Given the description of an element on the screen output the (x, y) to click on. 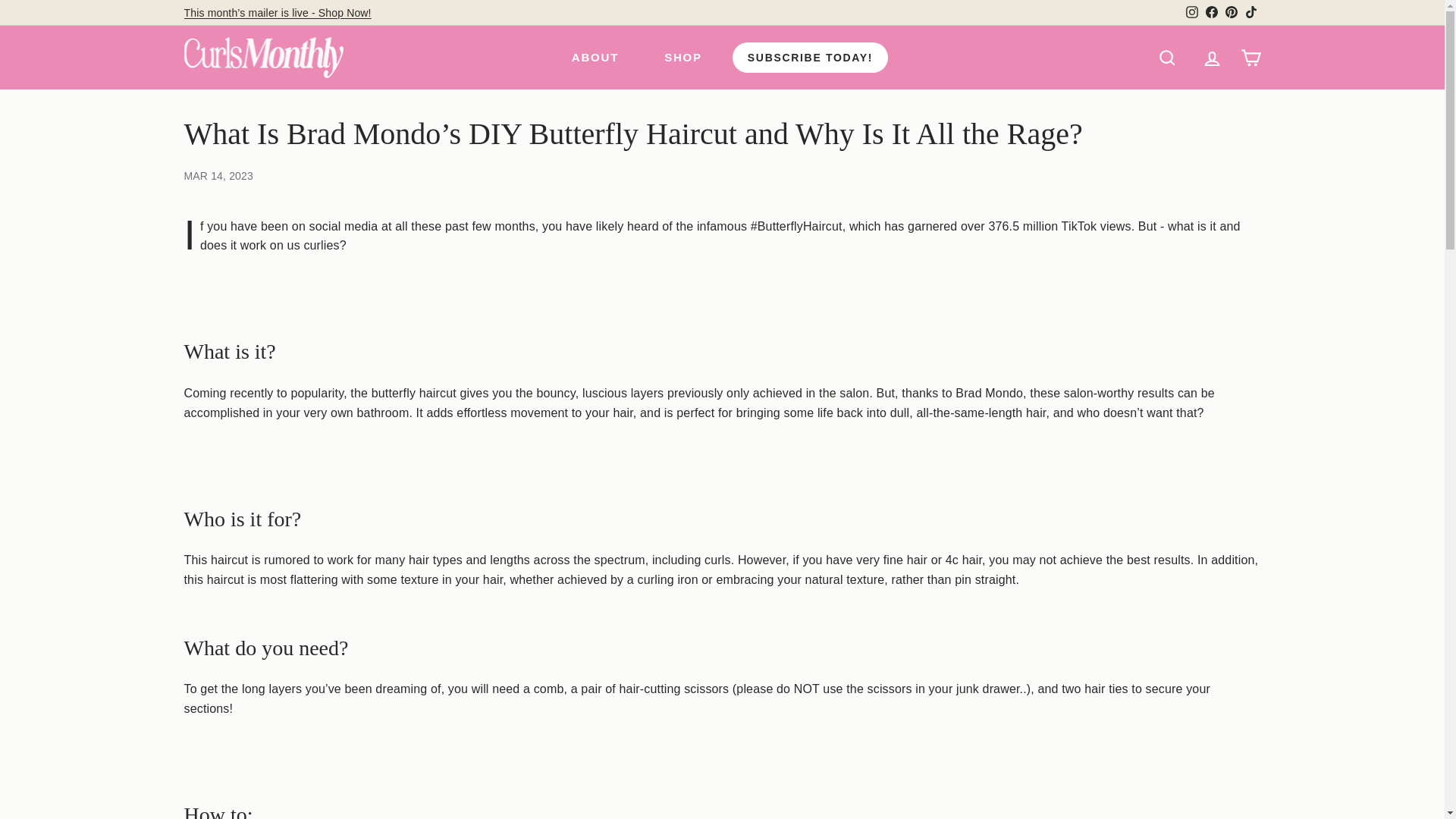
ABOUT (594, 57)
SEARCH (1166, 57)
SUBSCRIBE TODAY! (810, 57)
SHOP (683, 57)
